Given the description of an element on the screen output the (x, y) to click on. 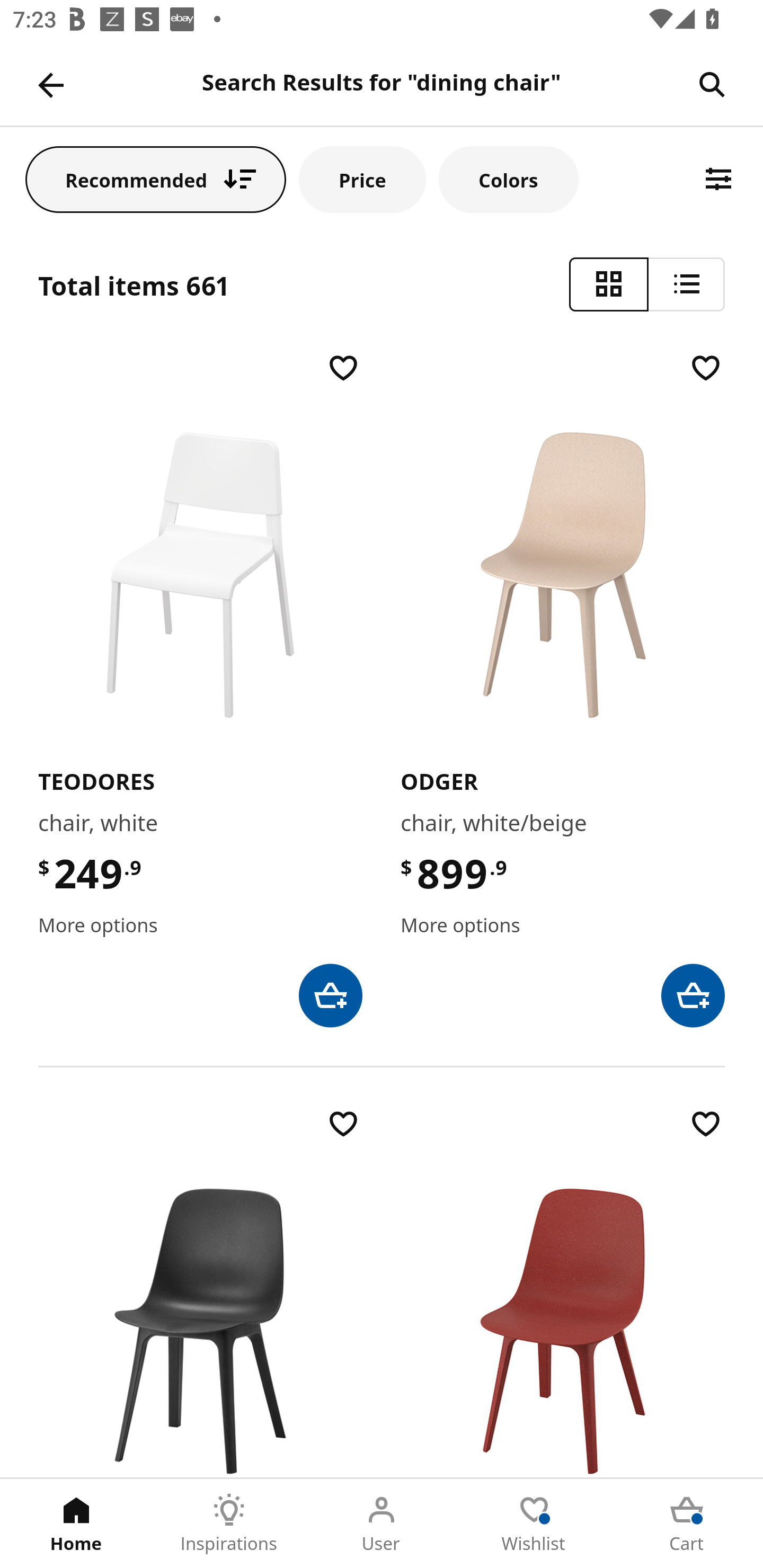
Recommended (155, 179)
Price (362, 179)
Colors (508, 179)
​O​D​G​E​R​
chair, red
$
899
.9
More options (562, 1291)
Home
Tab 1 of 5 (76, 1522)
Inspirations
Tab 2 of 5 (228, 1522)
User
Tab 3 of 5 (381, 1522)
Wishlist
Tab 4 of 5 (533, 1522)
Cart
Tab 5 of 5 (686, 1522)
